Given the description of an element on the screen output the (x, y) to click on. 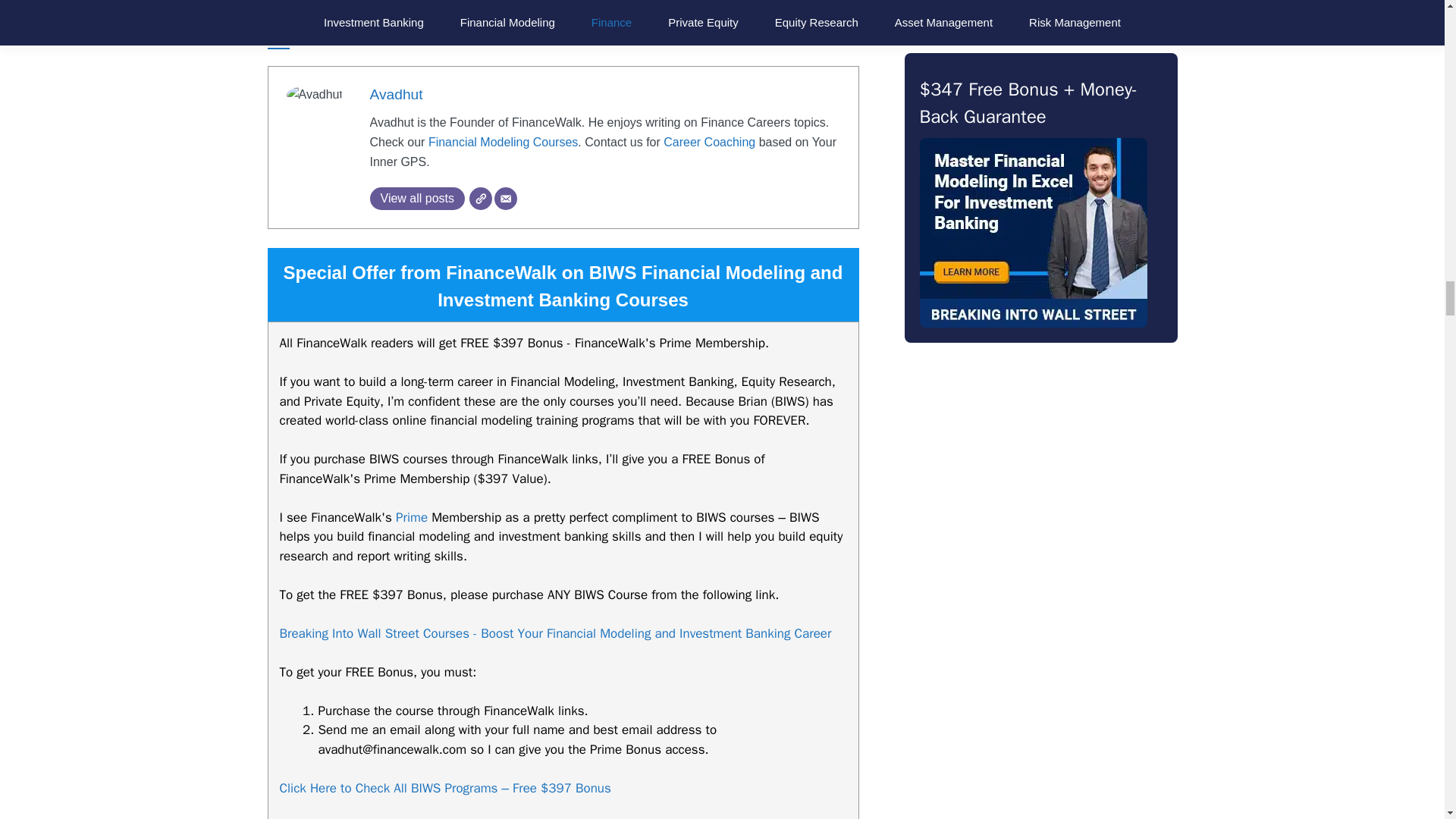
The Ultimate Finance Internships India Guide 4 (314, 94)
Avadhut (396, 94)
View all posts (417, 198)
